Given the description of an element on the screen output the (x, y) to click on. 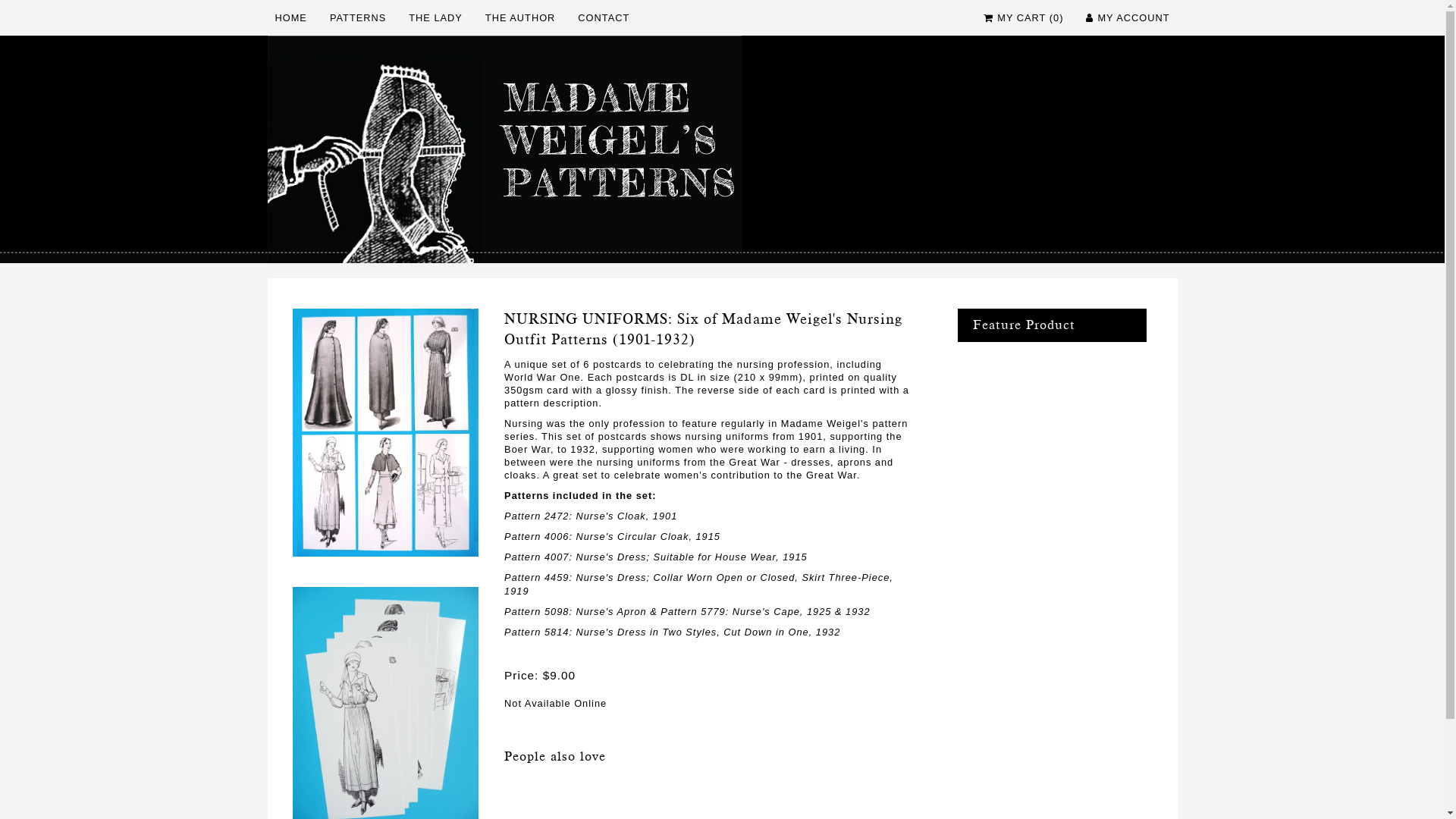
CONTACT Element type: text (603, 17)
MY CART (0) Element type: text (1030, 17)
THE LADY Element type: text (435, 17)
HOME Element type: text (290, 17)
MY ACCOUNT Element type: text (1133, 17)
THE AUTHOR Element type: text (520, 17)
PATTERNS Element type: text (357, 17)
